Given the description of an element on the screen output the (x, y) to click on. 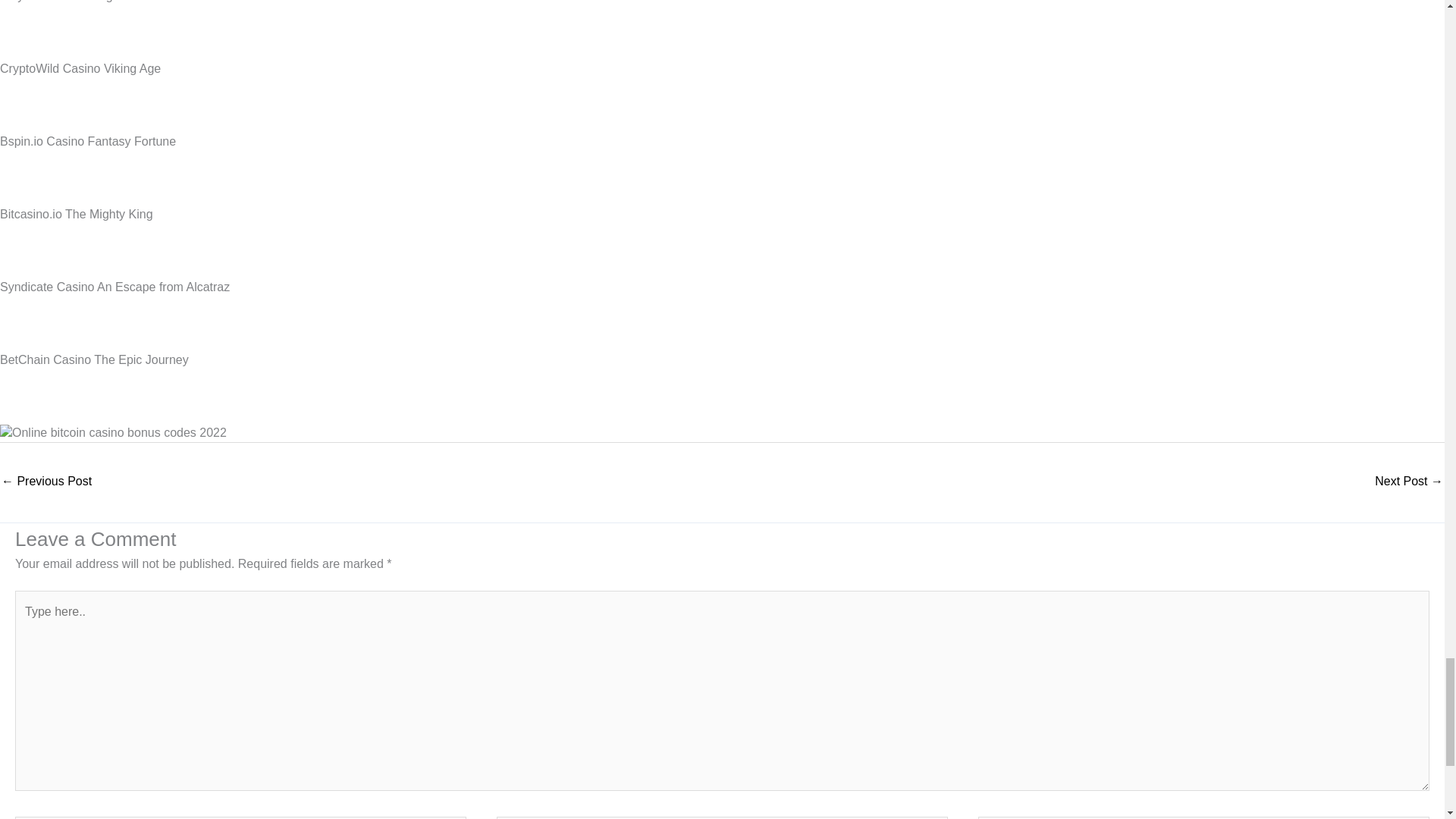
Gambling casinos on long island, yonkers casino (46, 482)
Online bitcoin casino bonus codes 2022 (113, 433)
